Given the description of an element on the screen output the (x, y) to click on. 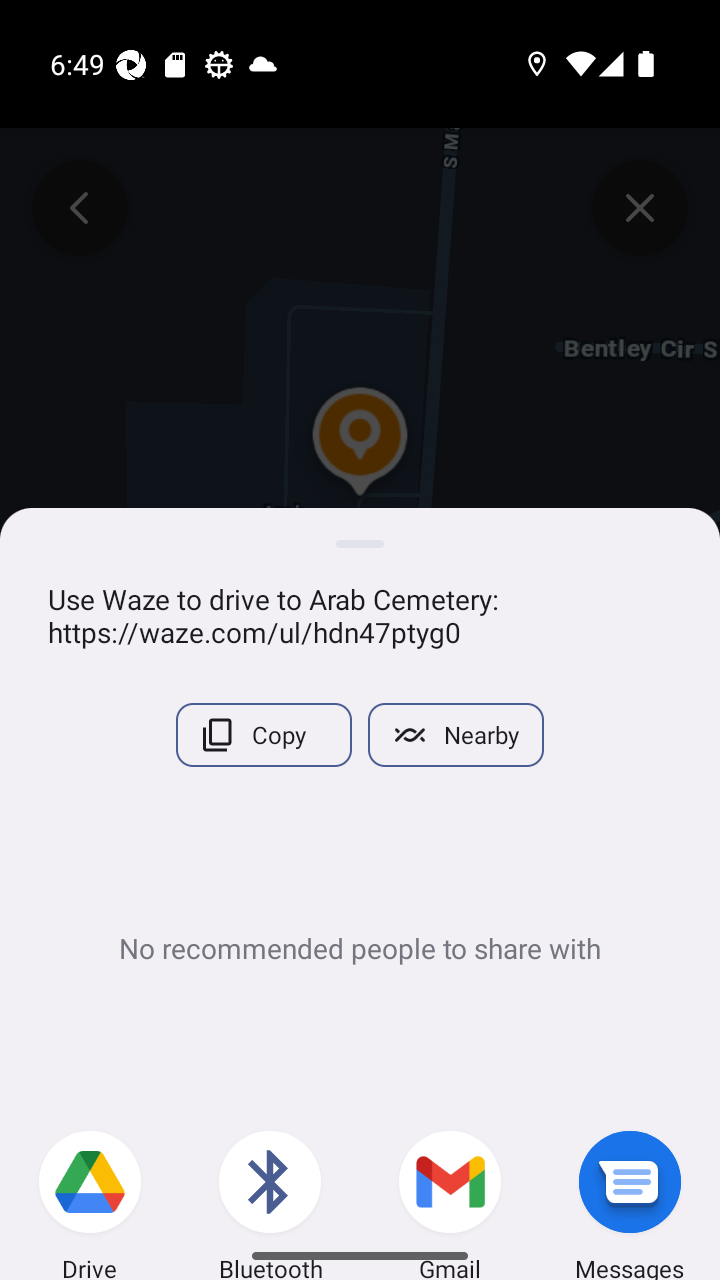
Copy (263, 735)
Nearby (455, 735)
Drive (90, 1178)
Bluetooth (270, 1178)
Gmail (450, 1178)
Messages (630, 1178)
